Given the description of an element on the screen output the (x, y) to click on. 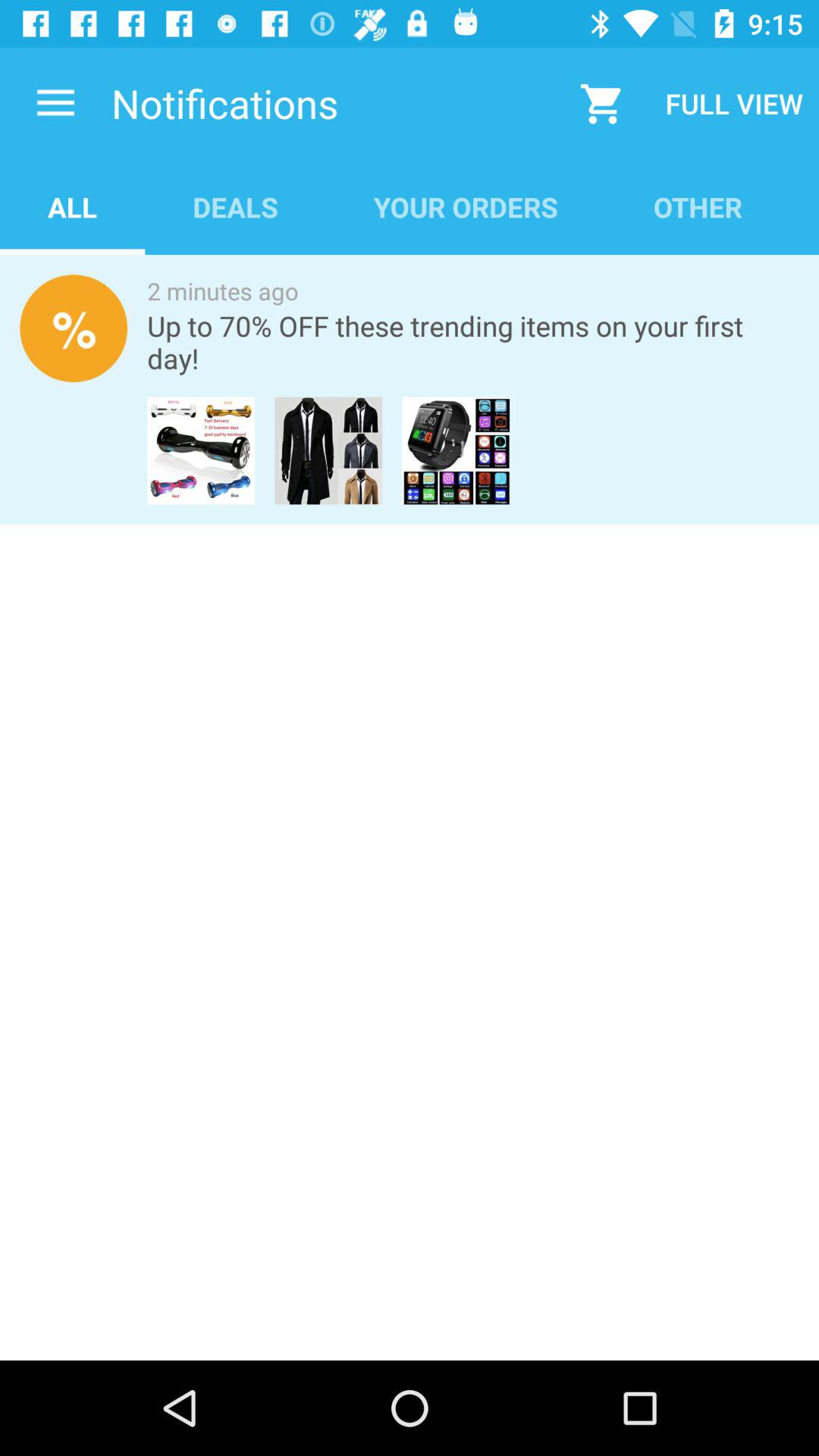
select icon to the left of the other (465, 206)
